Given the description of an element on the screen output the (x, y) to click on. 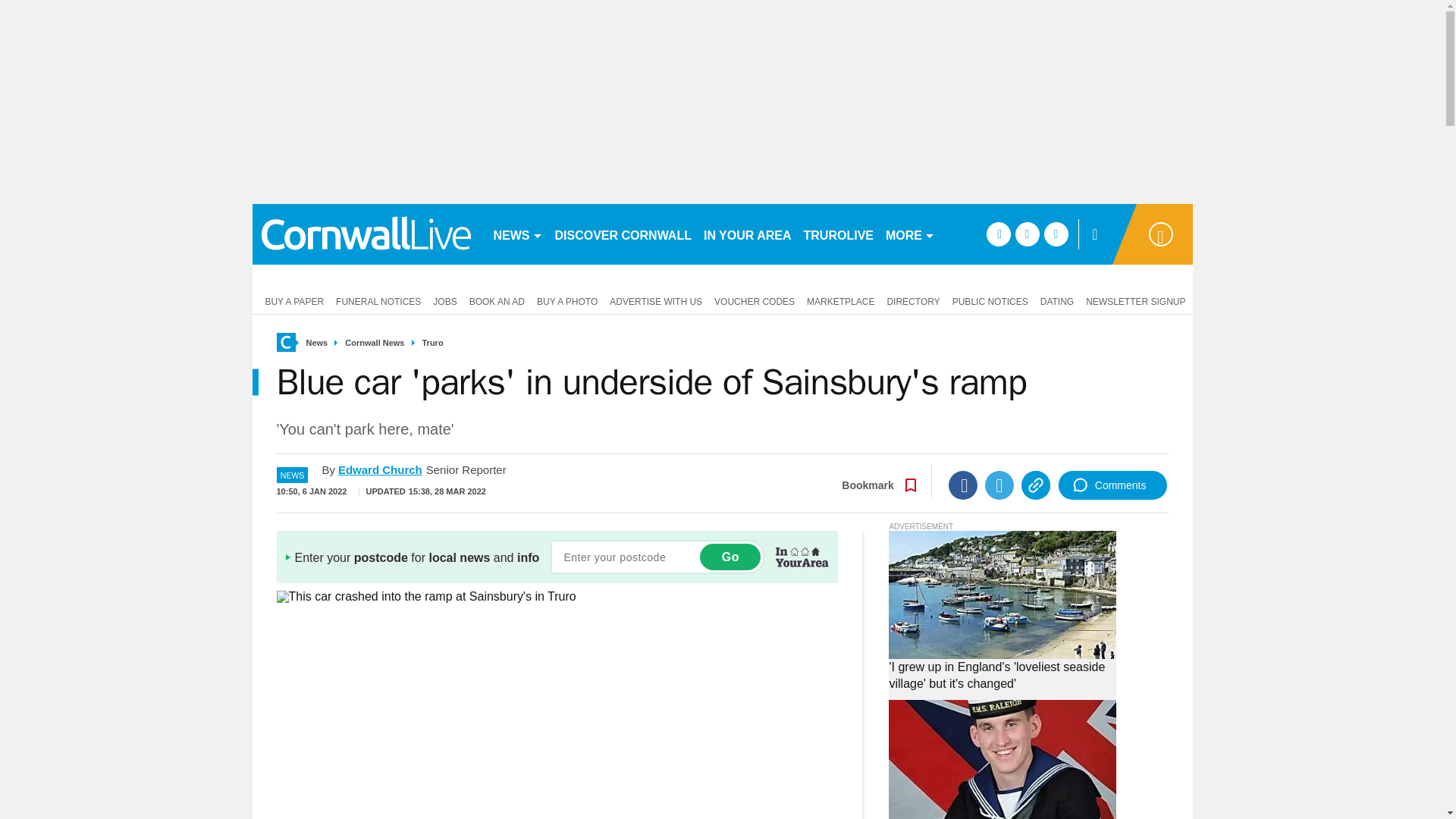
Facebook (962, 484)
Comments (1112, 484)
DISCOVER CORNWALL (622, 233)
IN YOUR AREA (747, 233)
NEWS (517, 233)
instagram (1055, 233)
twitter (1026, 233)
Twitter (999, 484)
TRUROLIVE (838, 233)
MORE (909, 233)
Go (730, 556)
facebook (997, 233)
cornwalllive (365, 233)
